Given the description of an element on the screen output the (x, y) to click on. 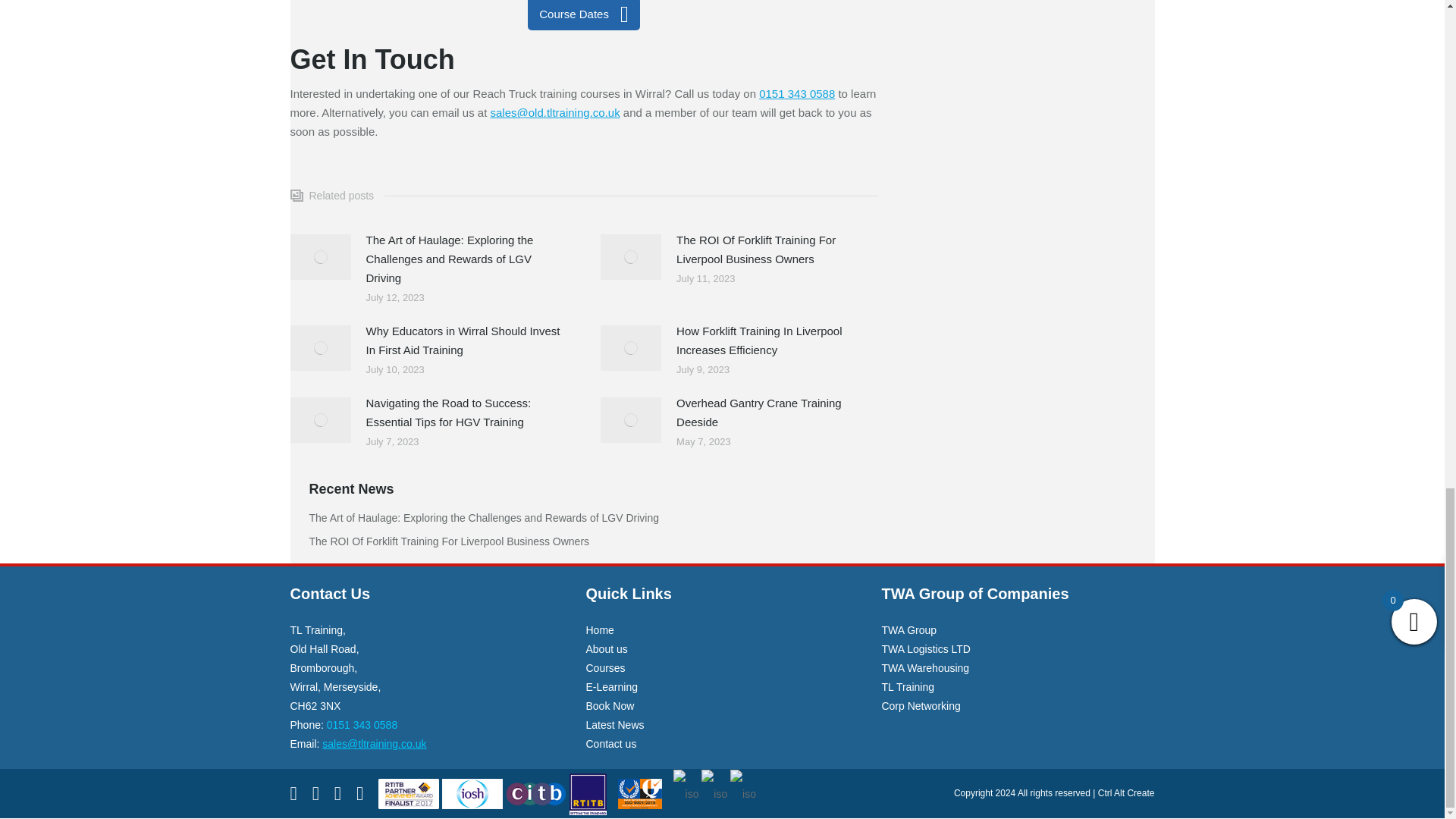
Courses (604, 667)
Home (598, 630)
About (606, 648)
Latest News (614, 725)
E-Learning (611, 686)
Contact us (610, 743)
Online Booking (609, 705)
enquire now (583, 15)
